Given the description of an element on the screen output the (x, y) to click on. 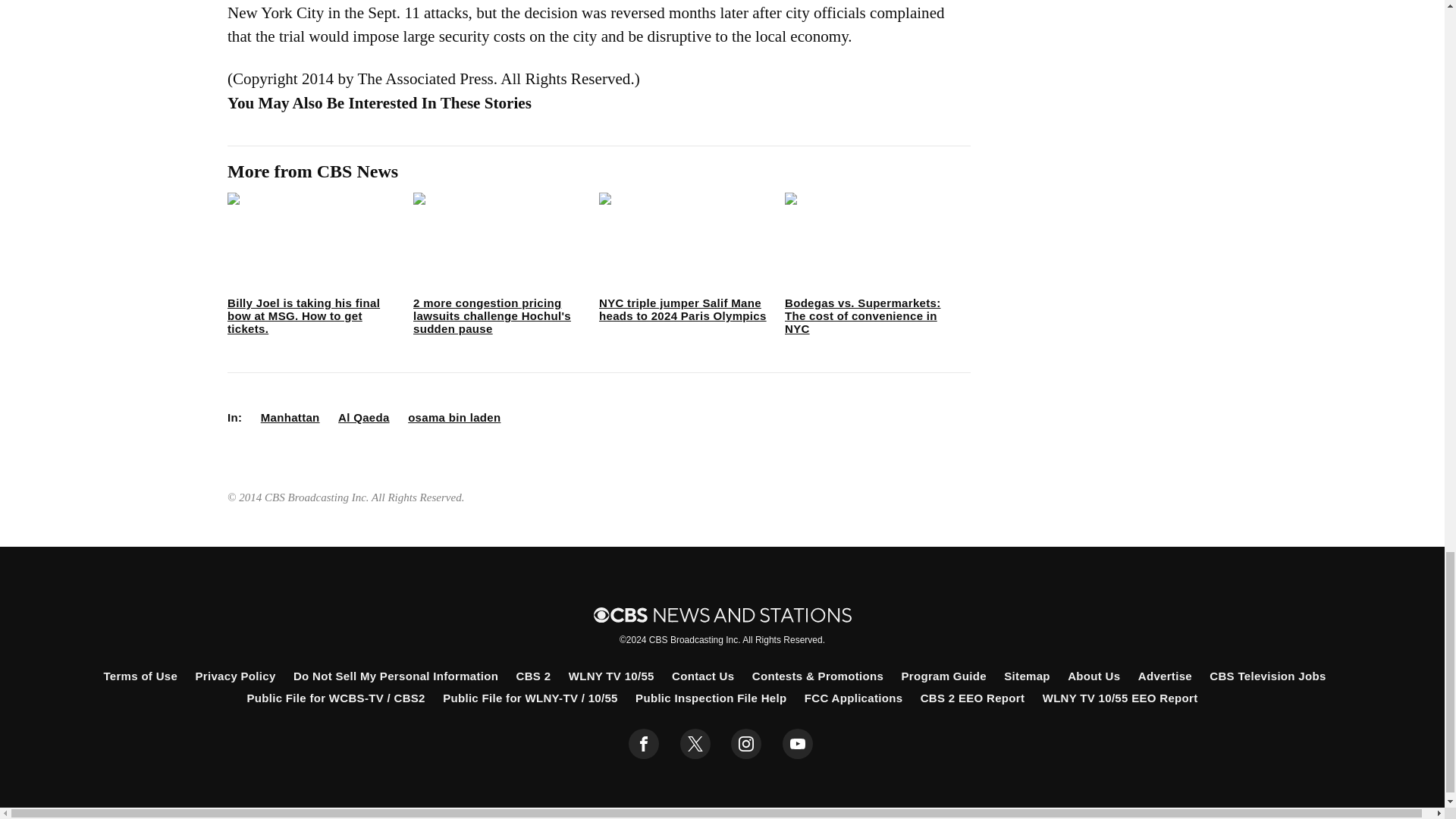
facebook (643, 743)
twitter (694, 743)
youtube (797, 743)
instagram (745, 743)
